Given the description of an element on the screen output the (x, y) to click on. 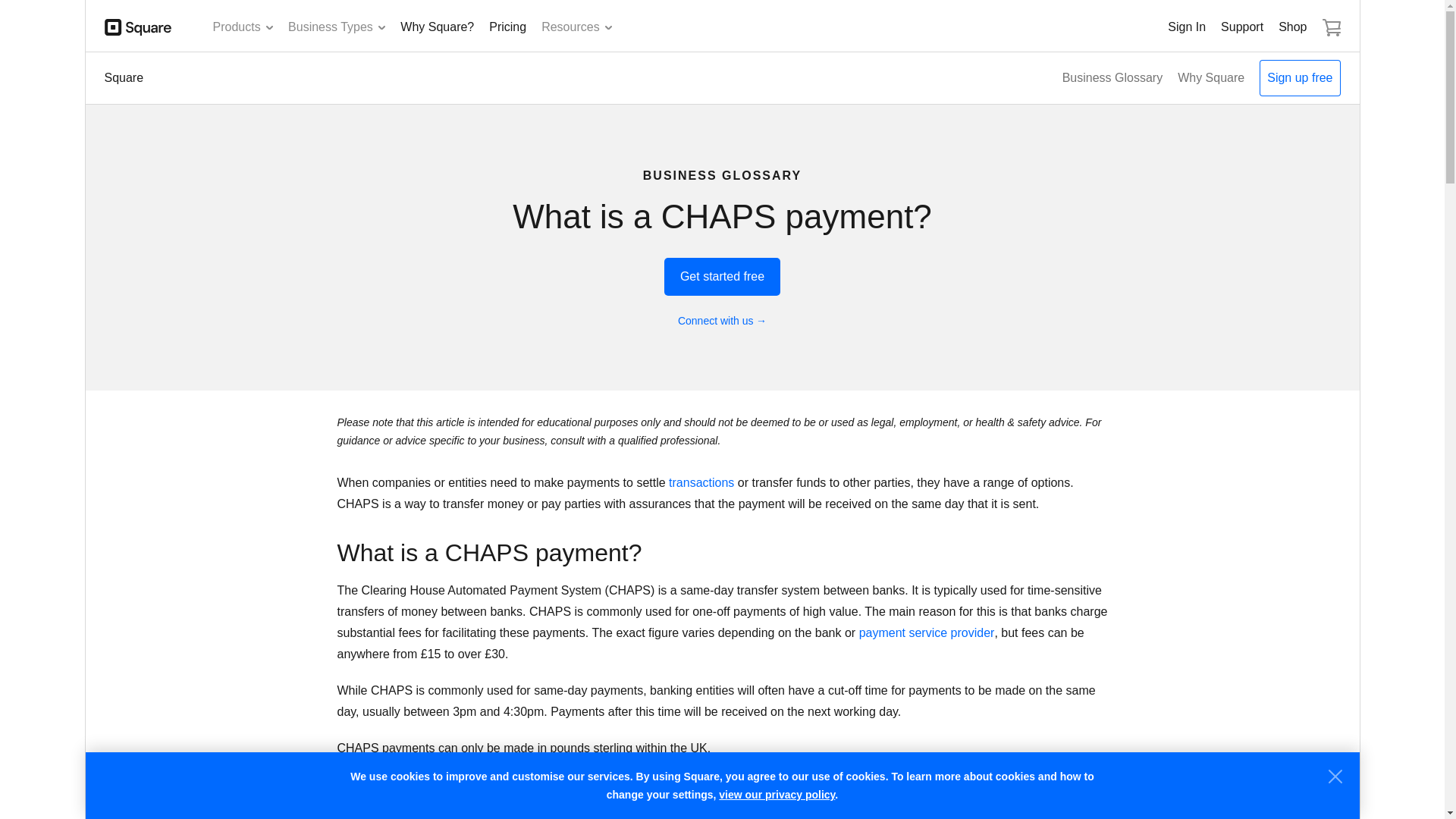
Square (137, 27)
Business Types (337, 27)
Products (243, 27)
